Given the description of an element on the screen output the (x, y) to click on. 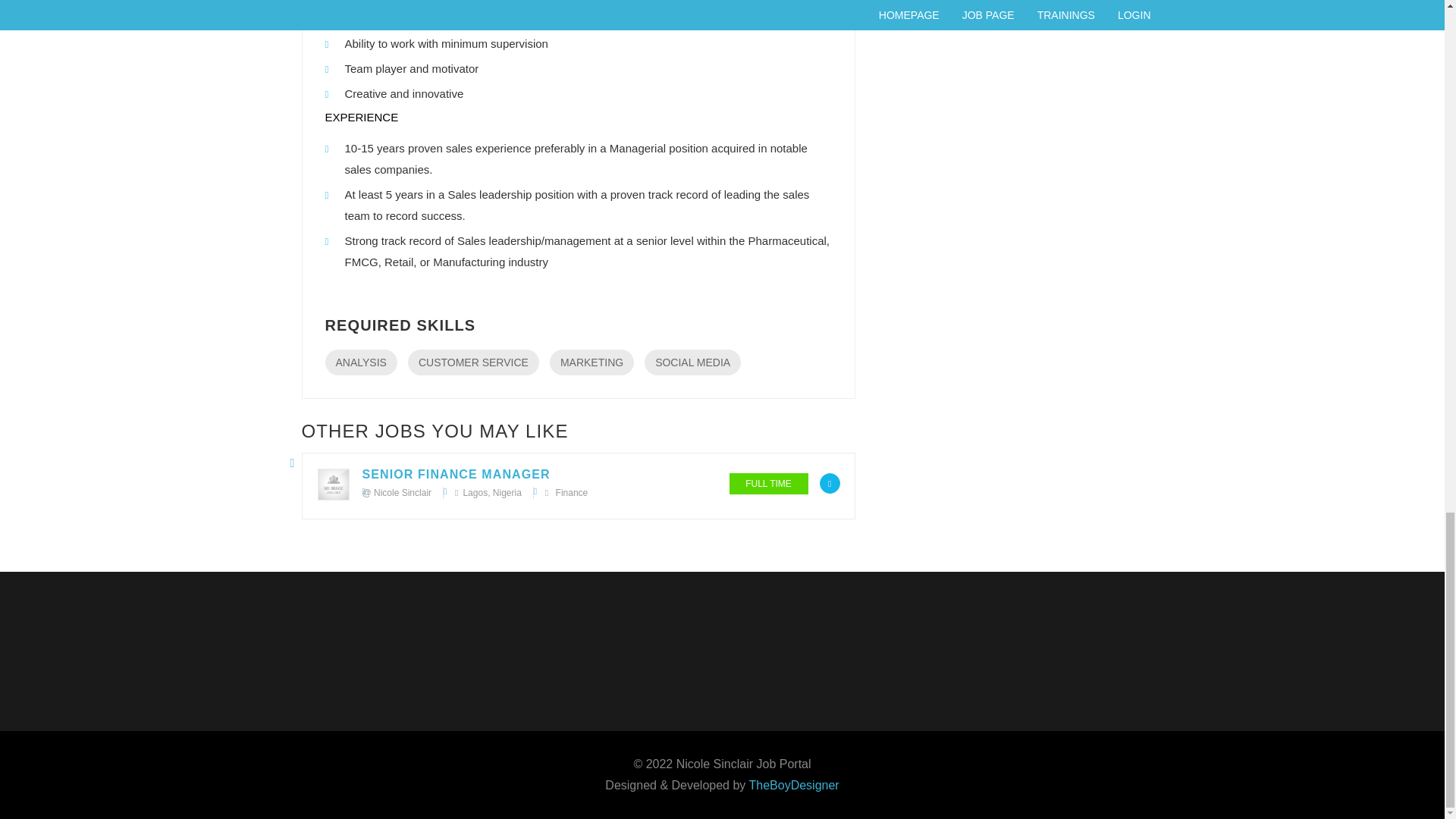
ANALYSIS (360, 362)
MARKETING (591, 362)
SOCIAL MEDIA (693, 362)
CUSTOMER SERVICE (472, 362)
FULL TIME (768, 483)
TheBoyDesigner (794, 784)
SENIOR FINANCE MANAGER (456, 473)
Finance (572, 492)
Senior Finance Manager (456, 473)
